Given the description of an element on the screen output the (x, y) to click on. 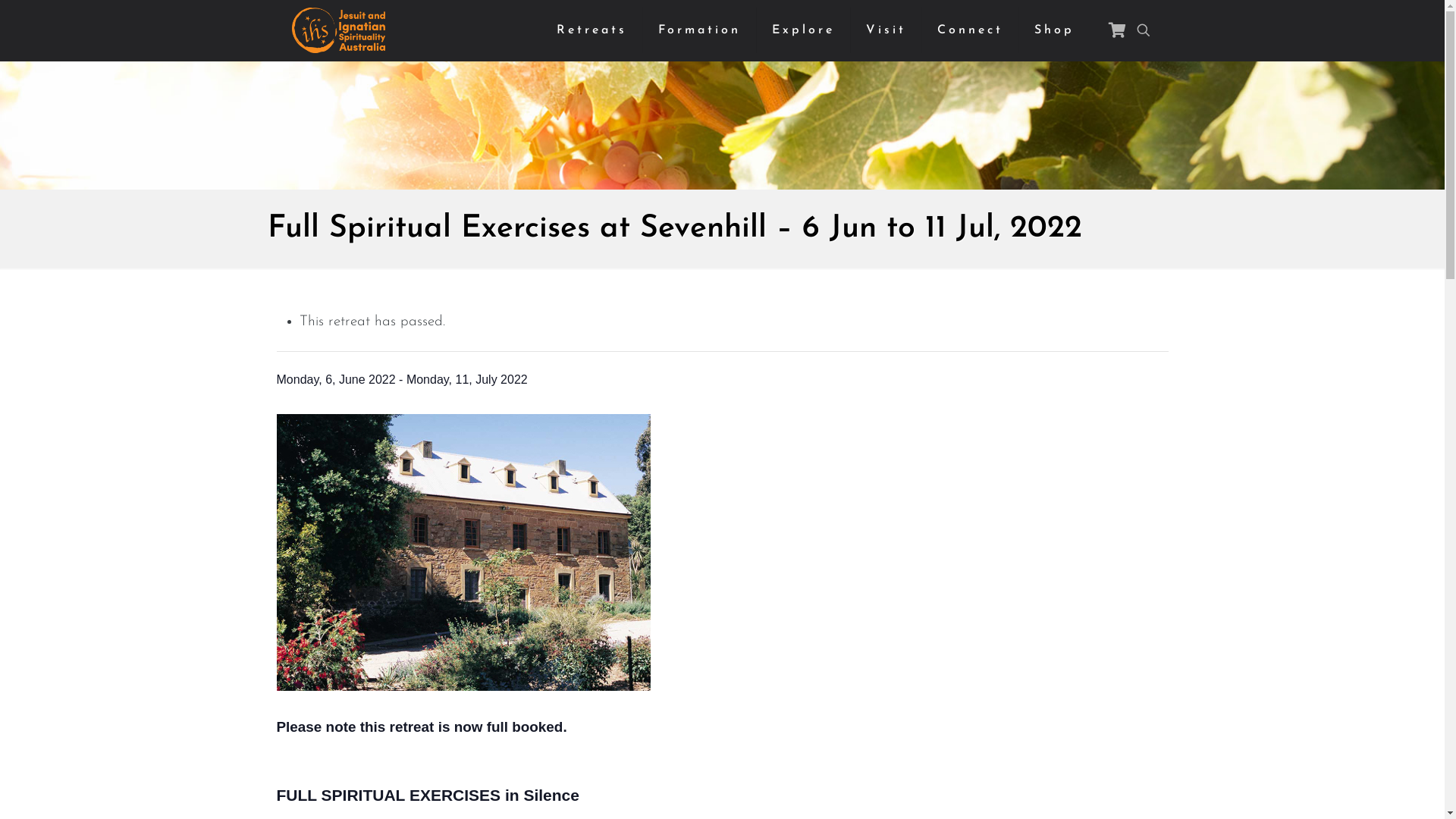
Jesuit and Ignatian Spirituality Australia Element type: hover (337, 30)
Explore Element type: text (803, 30)
Connect Element type: text (970, 30)
Shop Element type: text (1054, 30)
Visit Element type: text (886, 30)
Retreats Element type: text (592, 30)
Formation Element type: text (699, 30)
